Given the description of an element on the screen output the (x, y) to click on. 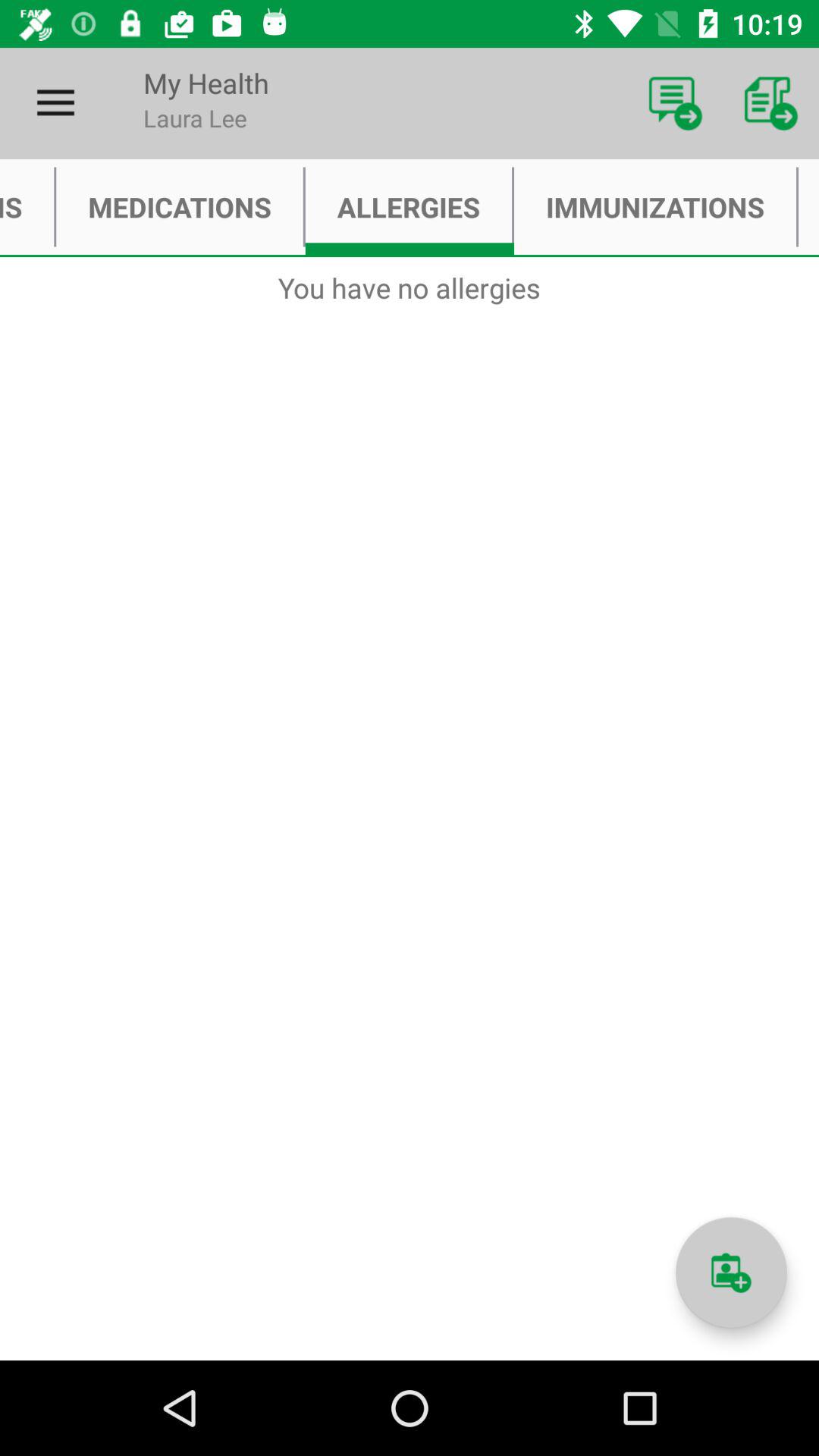
turn on the icon at the bottom right corner (731, 1272)
